Given the description of an element on the screen output the (x, y) to click on. 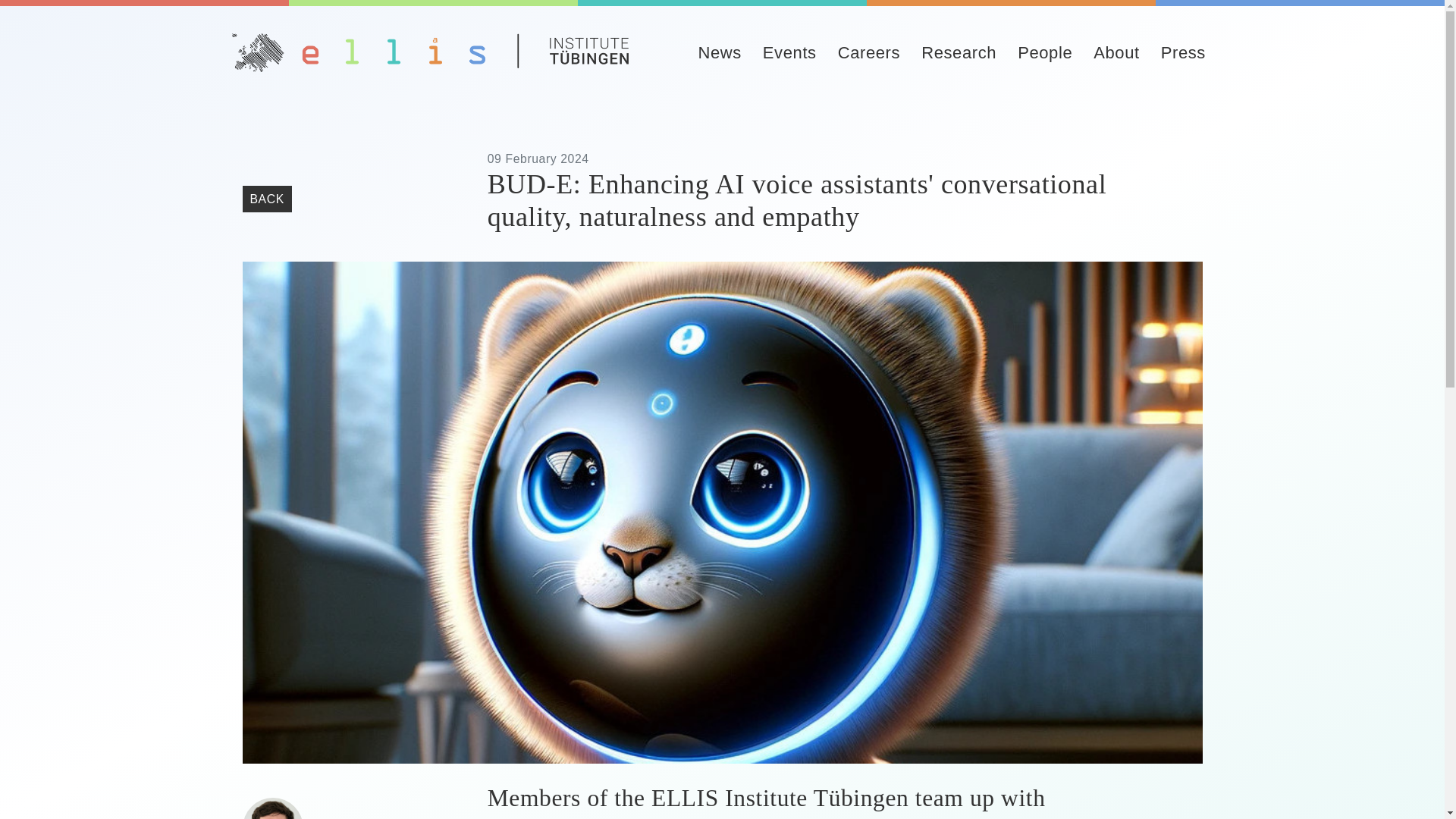
People (1044, 52)
News (719, 52)
Press (1183, 52)
Careers (869, 52)
Research (958, 52)
Events (789, 52)
About (1116, 52)
BACK (267, 198)
